Given the description of an element on the screen output the (x, y) to click on. 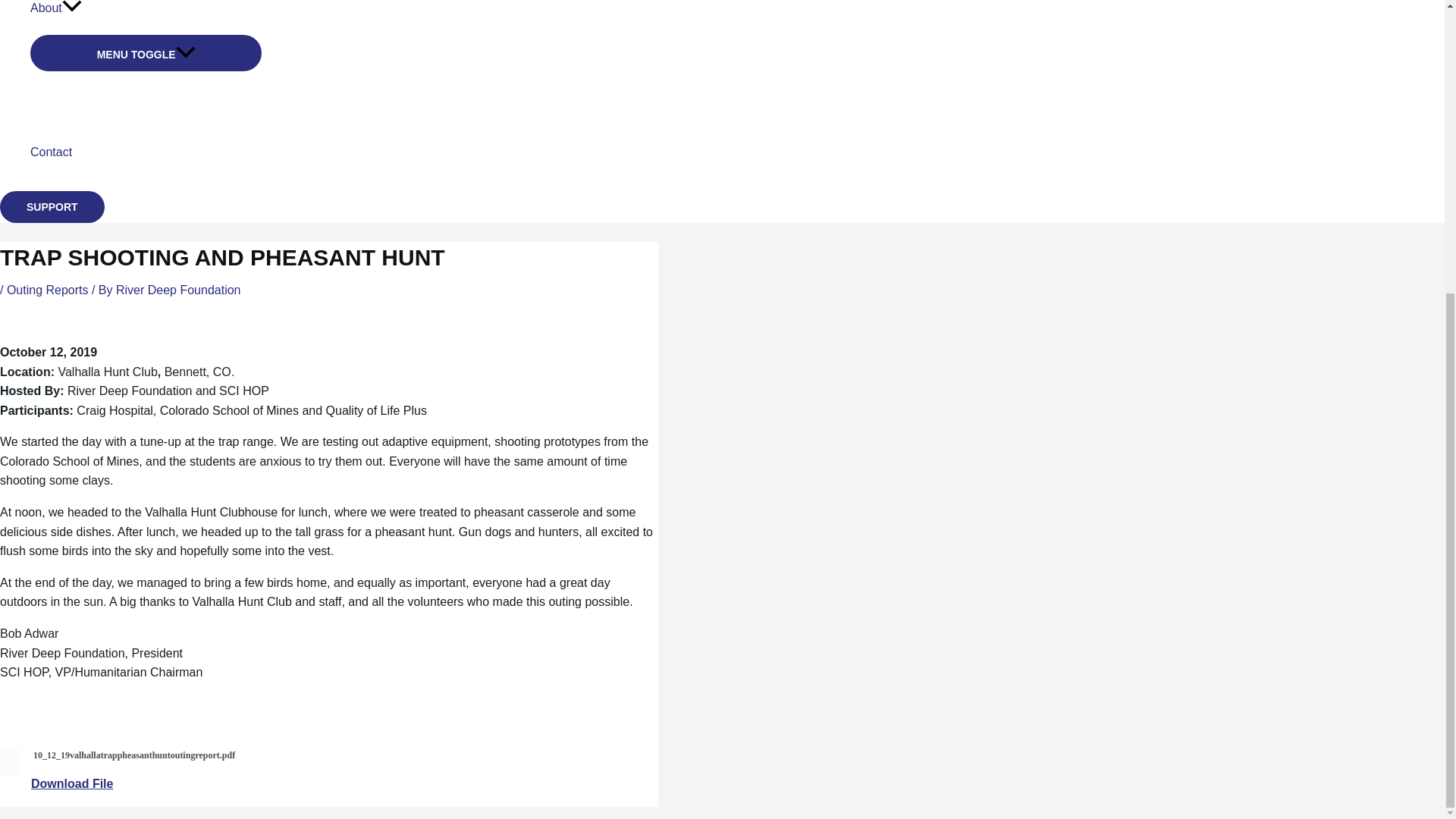
MENU TOGGLE (146, 53)
River Deep Foundation (178, 289)
Contact (146, 152)
View all posts by River Deep Foundation (178, 289)
About (146, 17)
Outing Reports (47, 289)
Download File (71, 783)
SUPPORT (52, 206)
